Given the description of an element on the screen output the (x, y) to click on. 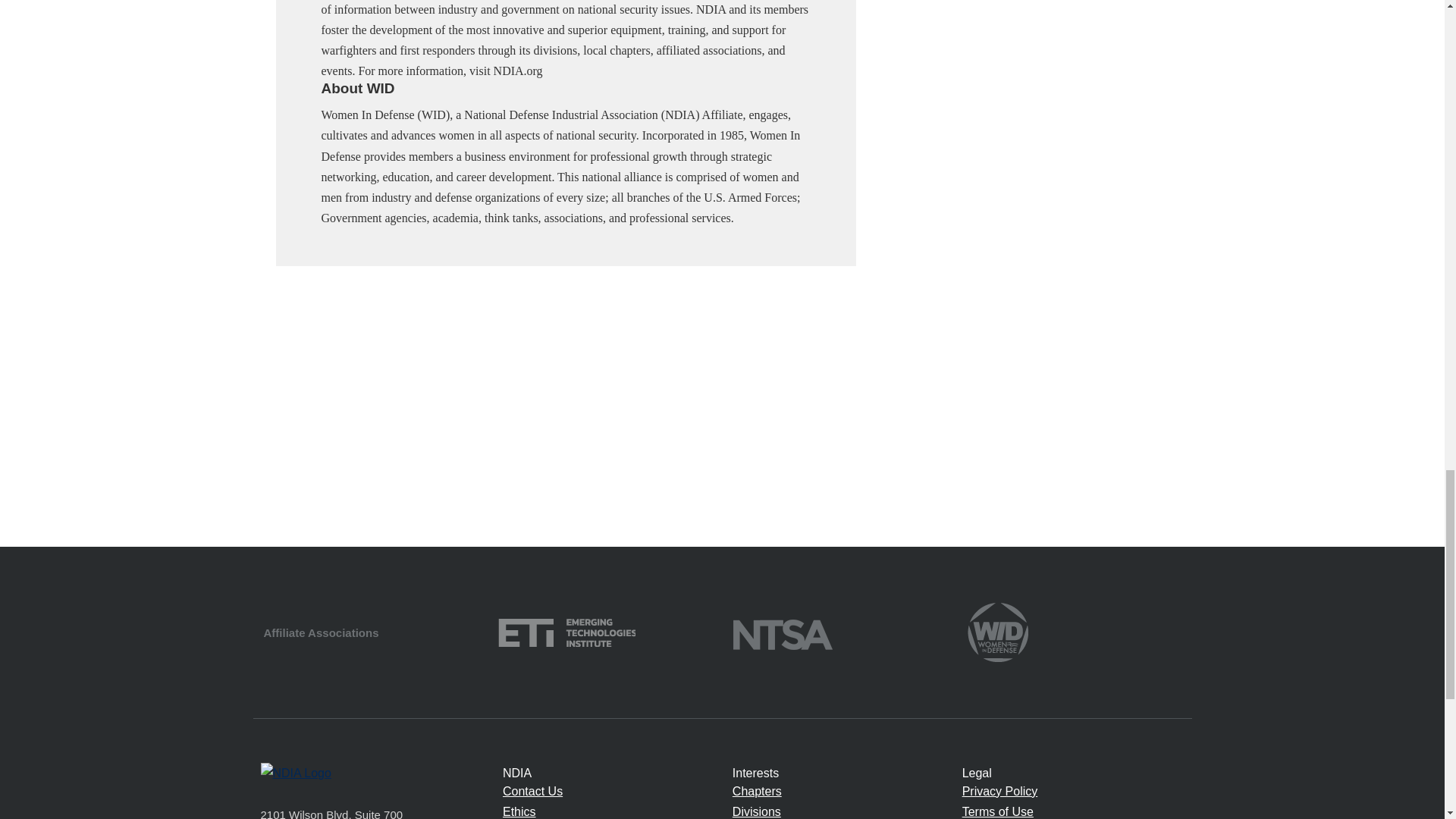
Emerging Technologies Institute (565, 633)
WID (997, 631)
Emerging Technologies Institute (565, 631)
